Given the description of an element on the screen output the (x, y) to click on. 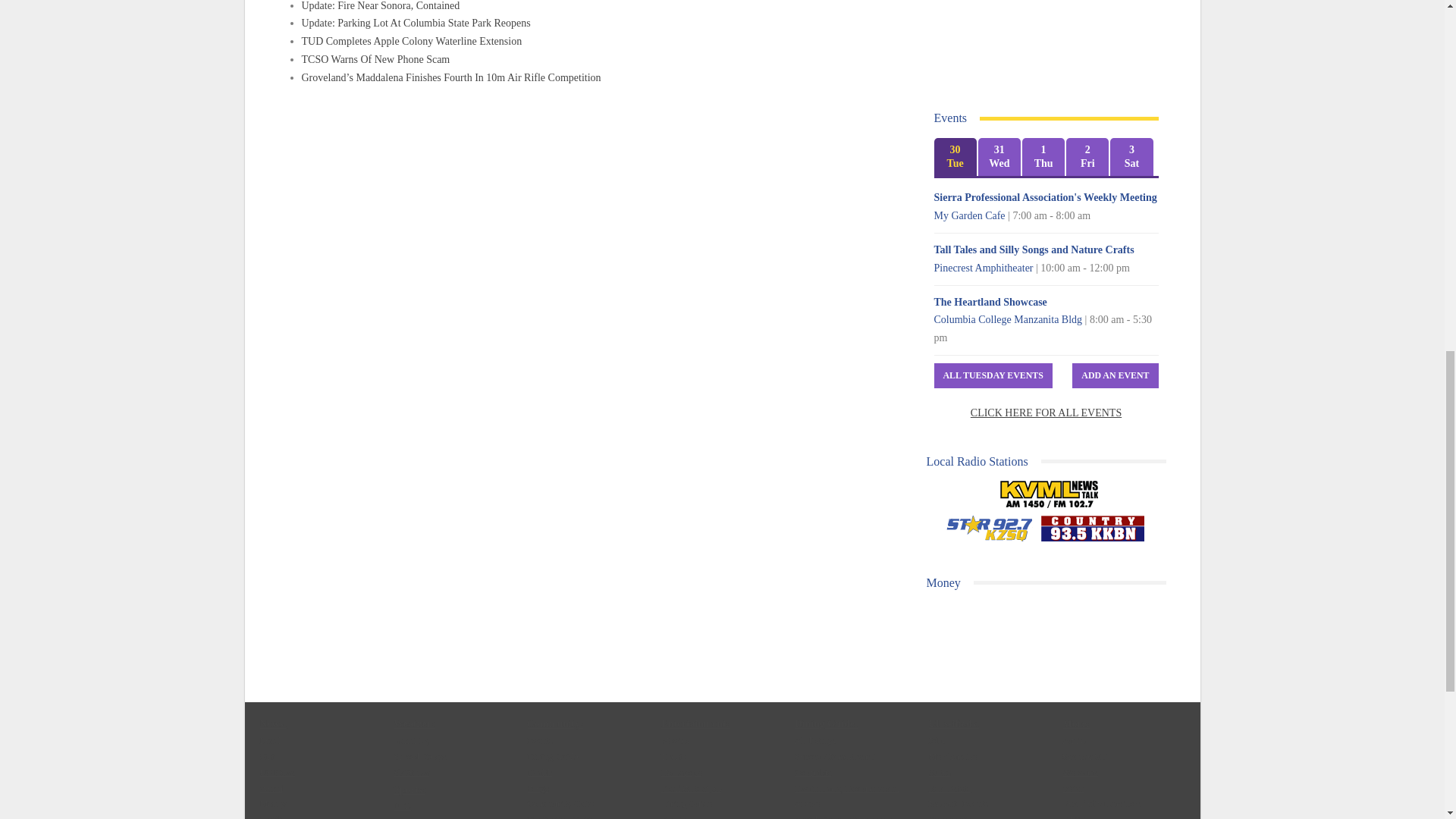
All Tuesday Events (993, 375)
Add An Event (1114, 375)
